Given the description of an element on the screen output the (x, y) to click on. 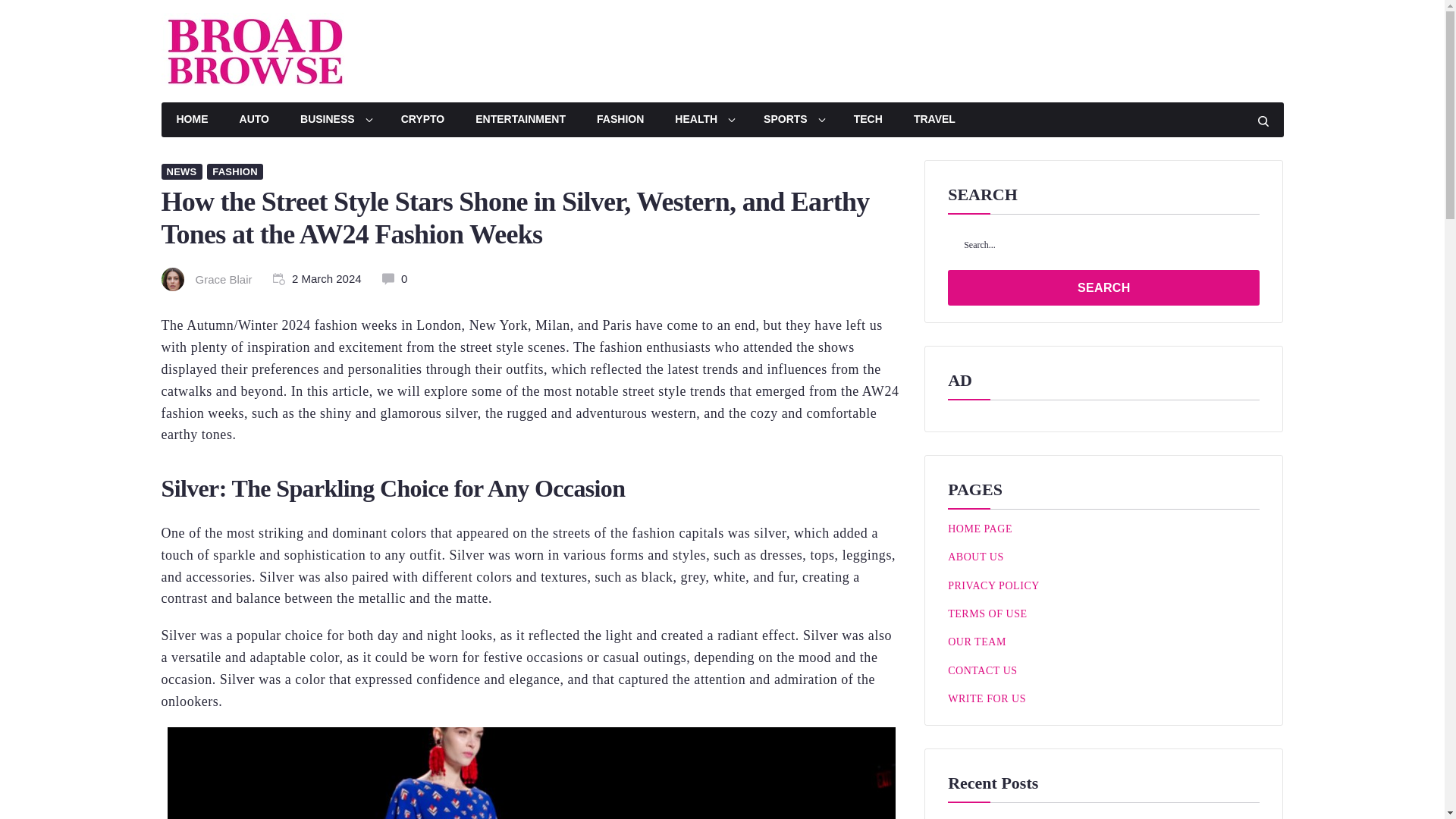
BUSINESS (335, 119)
FASHION (234, 171)
NEWS (181, 171)
AUTO (253, 119)
TRAVEL (934, 119)
HOME (191, 119)
Grace Blair (223, 278)
HEALTH (703, 119)
FASHION (619, 119)
